Given the description of an element on the screen output the (x, y) to click on. 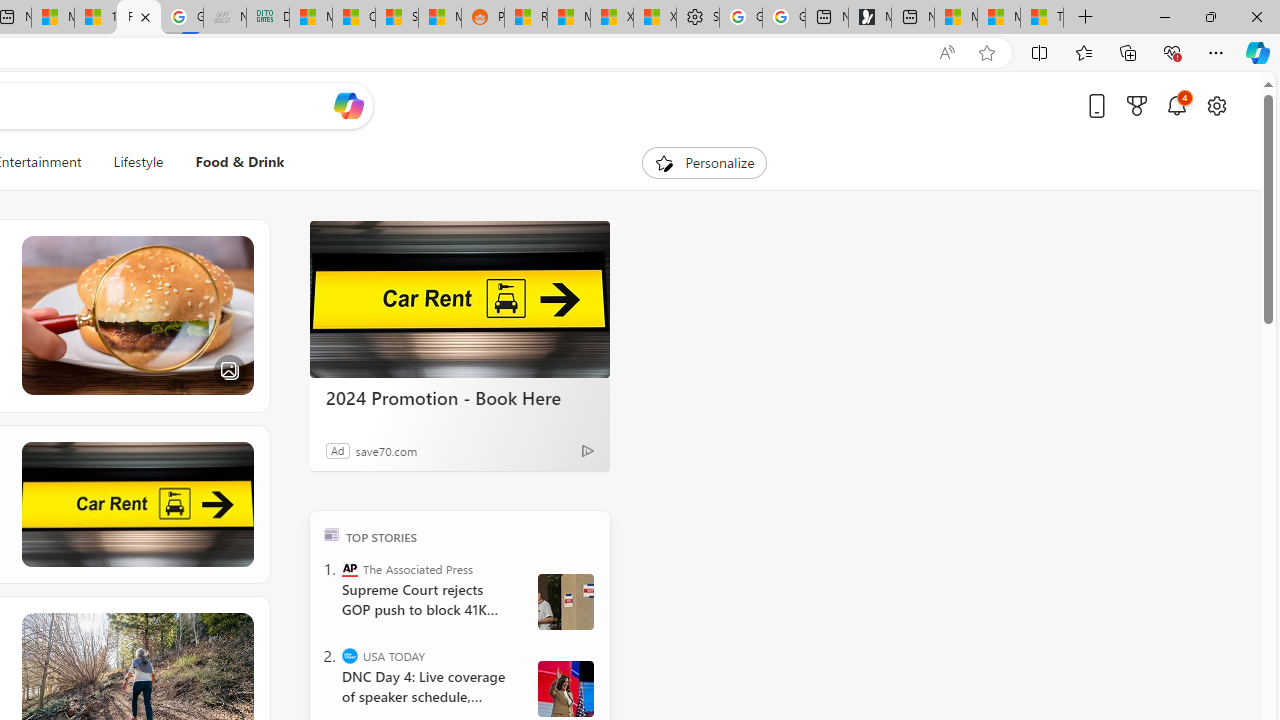
Food & Drink (239, 162)
R******* | Trusted Community Engagement and Contributions (525, 17)
Food & Drink (232, 162)
2024 Promotion - Book Here (459, 299)
